Given the description of an element on the screen output the (x, y) to click on. 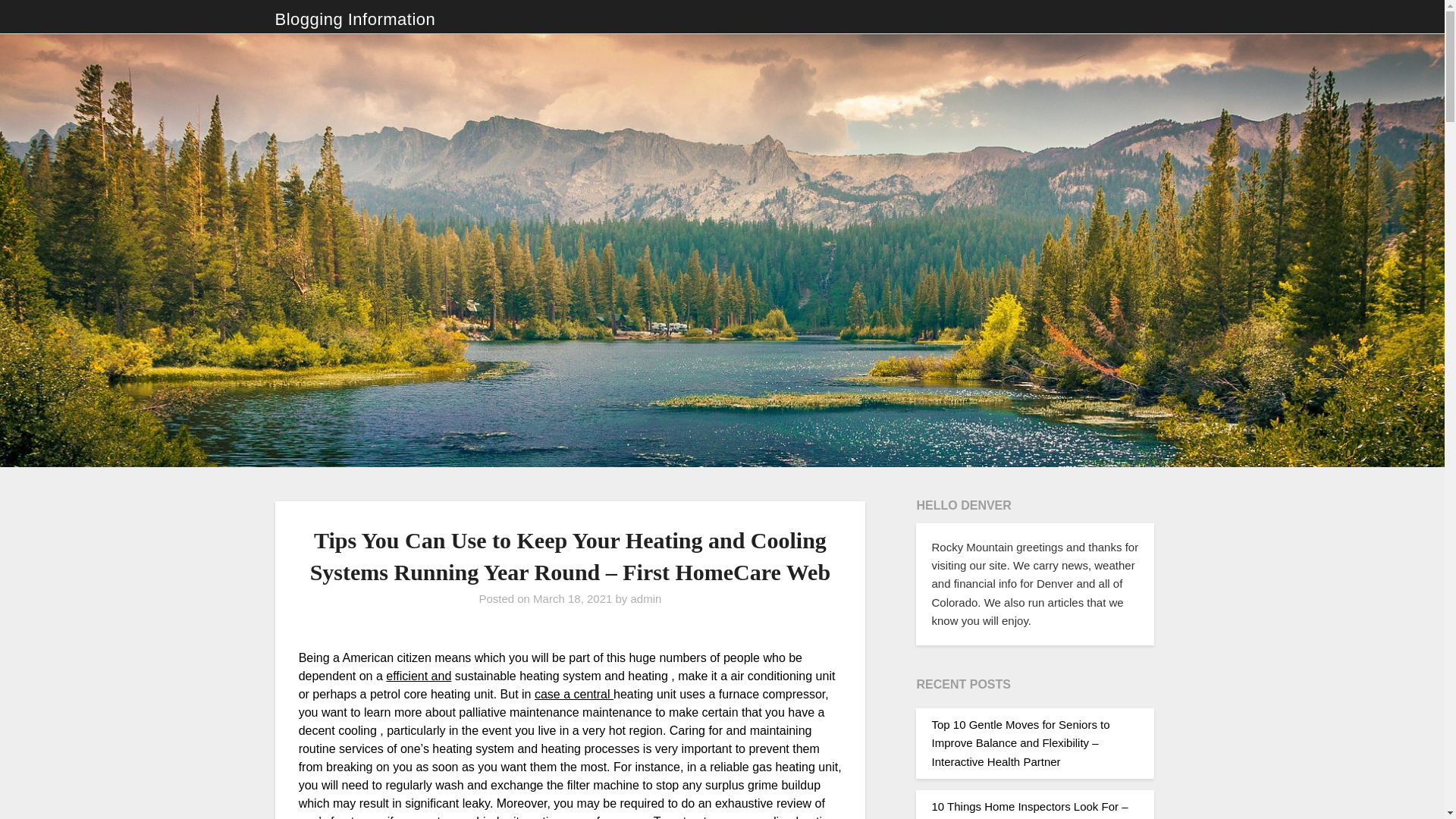
Blogging Information (355, 19)
admin (646, 598)
efficient and (418, 675)
case a central (573, 694)
March 18, 2021 (571, 598)
